Given the description of an element on the screen output the (x, y) to click on. 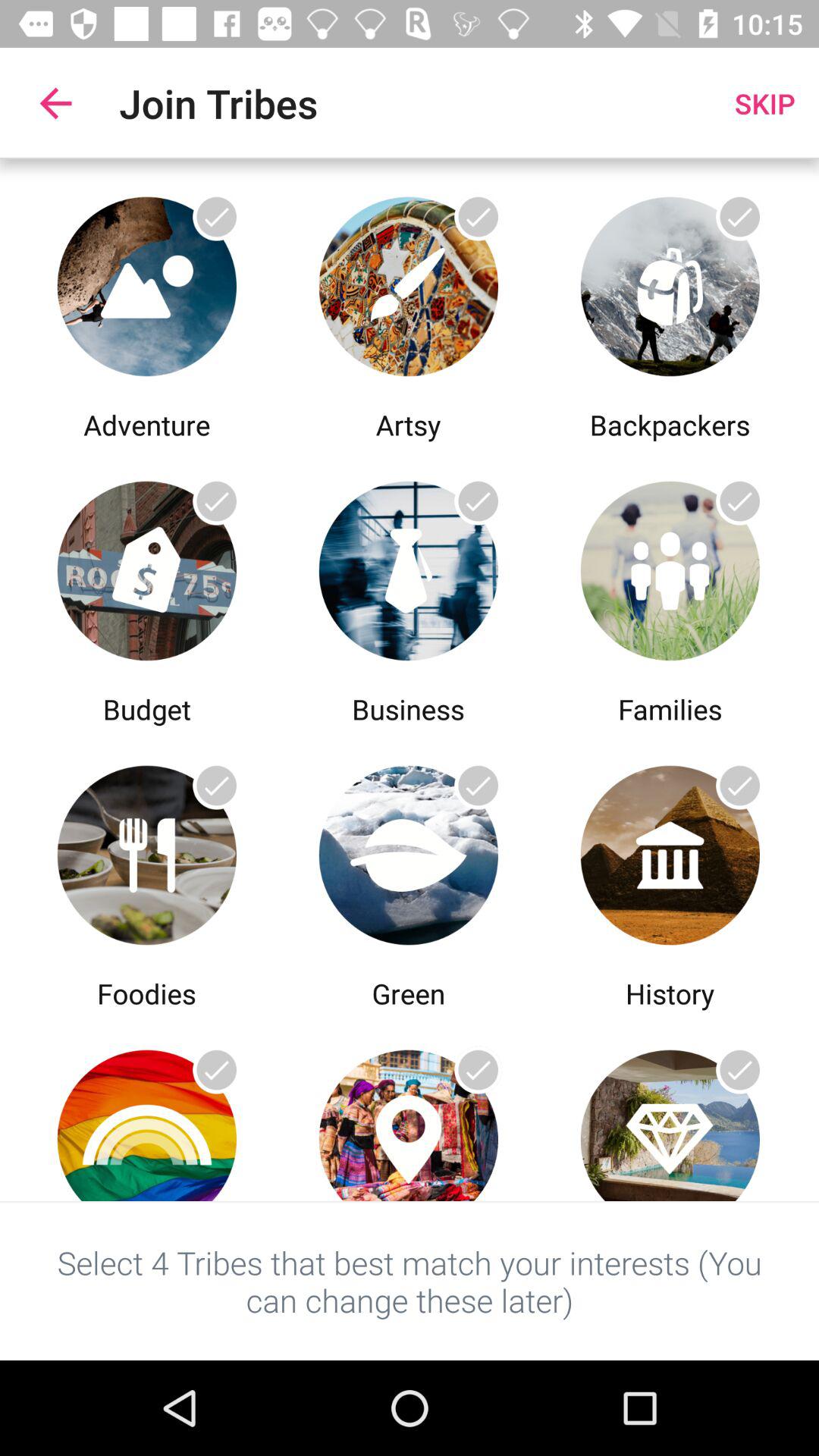
toggle a select option (408, 282)
